Given the description of an element on the screen output the (x, y) to click on. 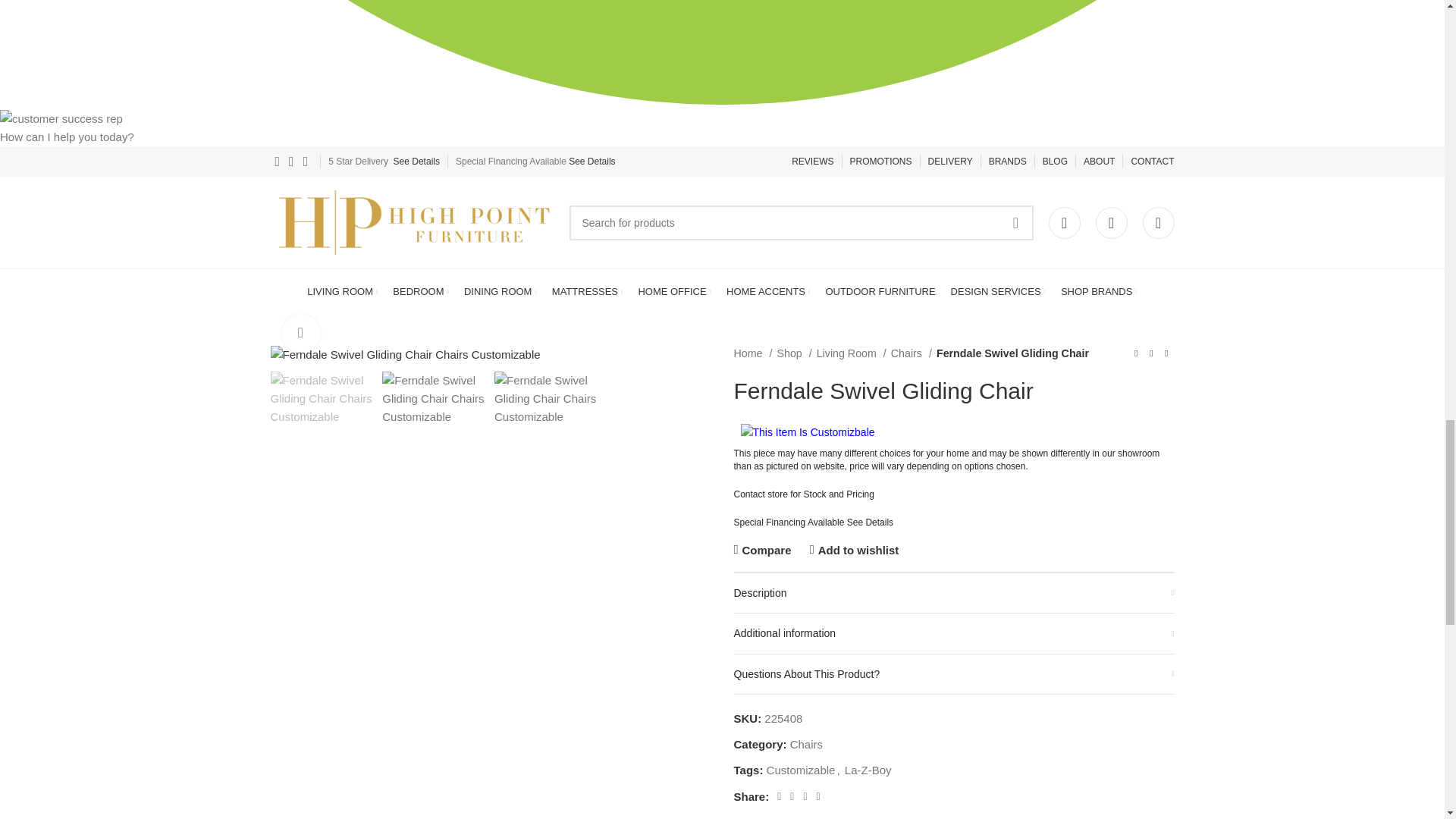
BEDROOM (420, 291)
My account (1064, 223)
SEARCH (1014, 221)
DELIVERY (950, 161)
See Details (591, 161)
Search for products (800, 221)
Compare products (1157, 223)
LIVING ROOM (342, 291)
Log in (954, 468)
ABOUT (1099, 161)
CONTACT (1152, 161)
PROMOTIONS (881, 161)
BRANDS (1007, 161)
See Details (416, 161)
